Given the description of an element on the screen output the (x, y) to click on. 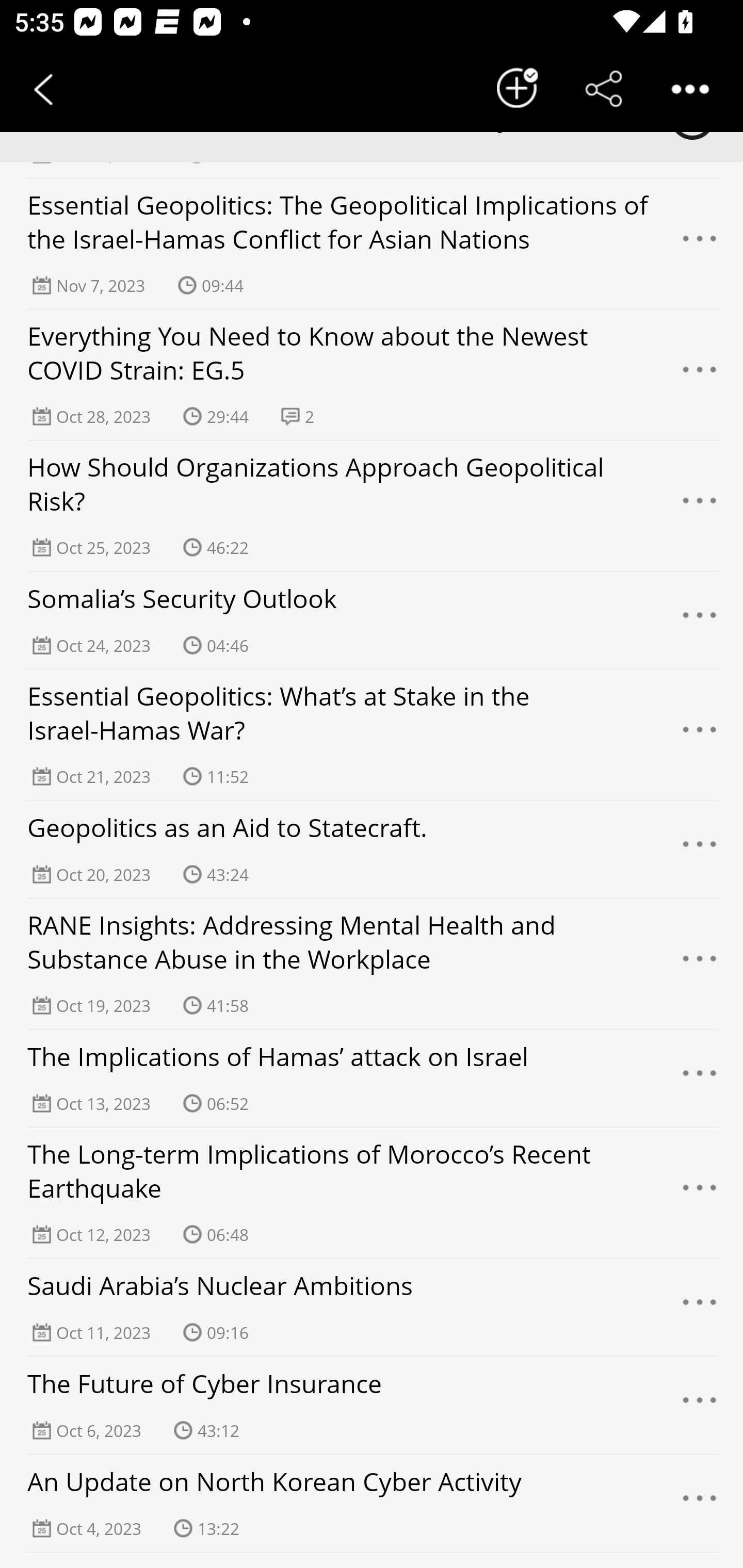
Back (43, 88)
Menu (699, 243)
Menu (699, 375)
Menu (699, 505)
Somalia’s Security Outlook Oct 24, 2023 04:46 Menu (371, 619)
Menu (699, 620)
Menu (699, 734)
Menu (699, 848)
Menu (699, 963)
Menu (699, 1077)
Menu (699, 1192)
Menu (699, 1307)
Menu (699, 1405)
Menu (699, 1503)
